Given the description of an element on the screen output the (x, y) to click on. 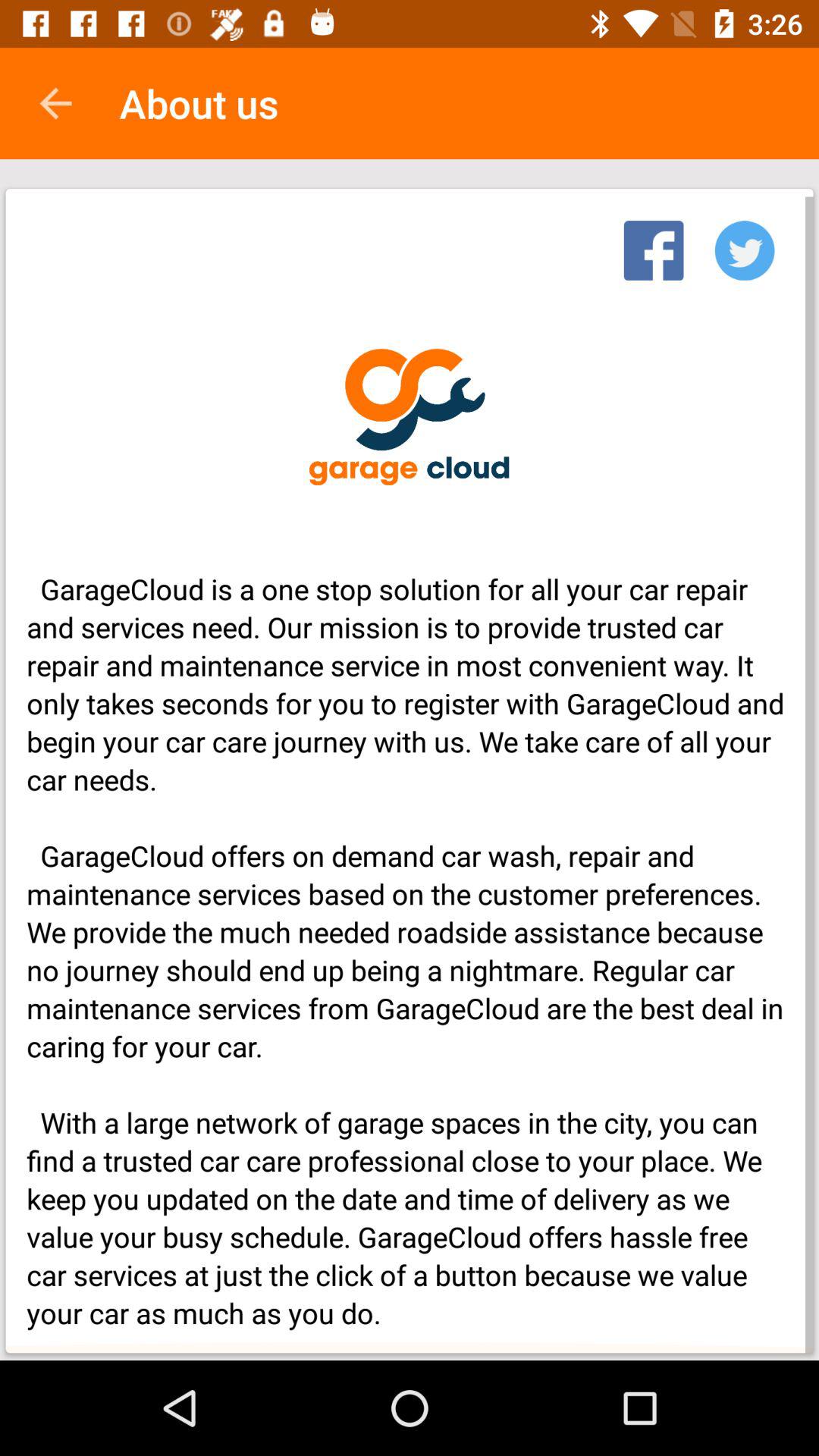
open the icon to the left of about us (55, 103)
